Given the description of an element on the screen output the (x, y) to click on. 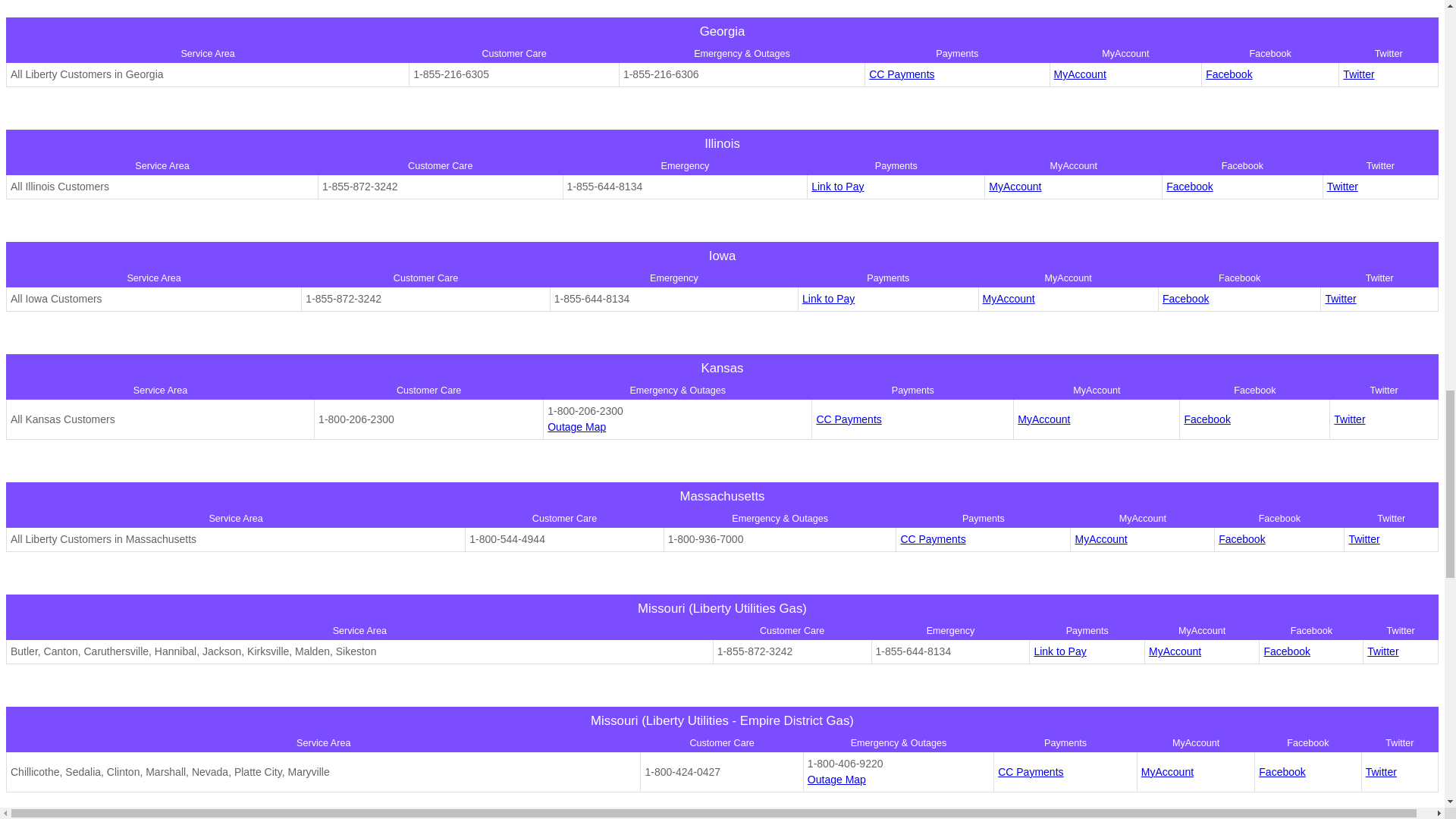
CC Payments (901, 73)
Facebook (1228, 73)
MyAccount (1080, 73)
